Given the description of an element on the screen output the (x, y) to click on. 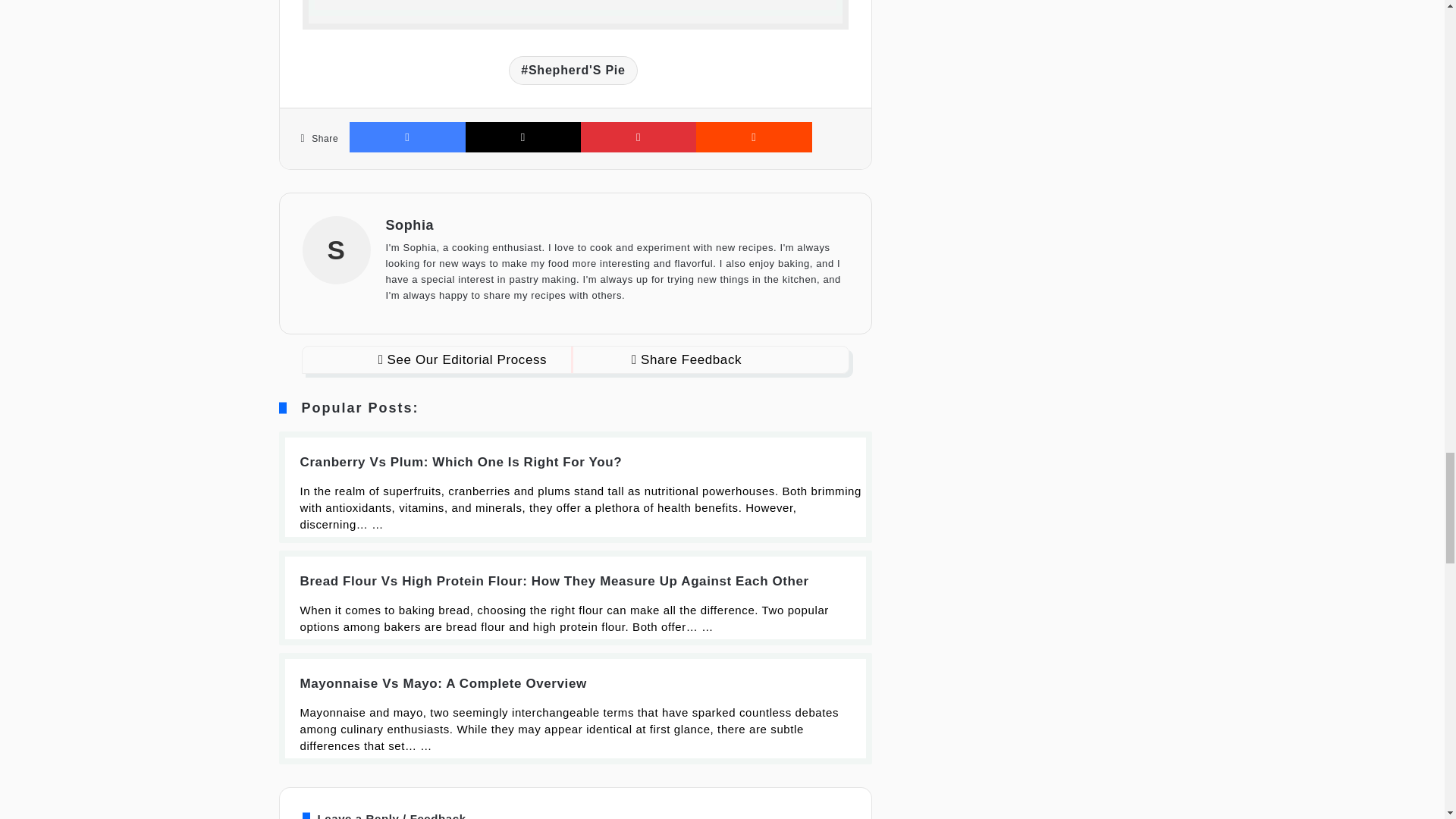
Reddit (752, 137)
Facebook (406, 137)
X (522, 137)
Pinterest (637, 137)
